Given the description of an element on the screen output the (x, y) to click on. 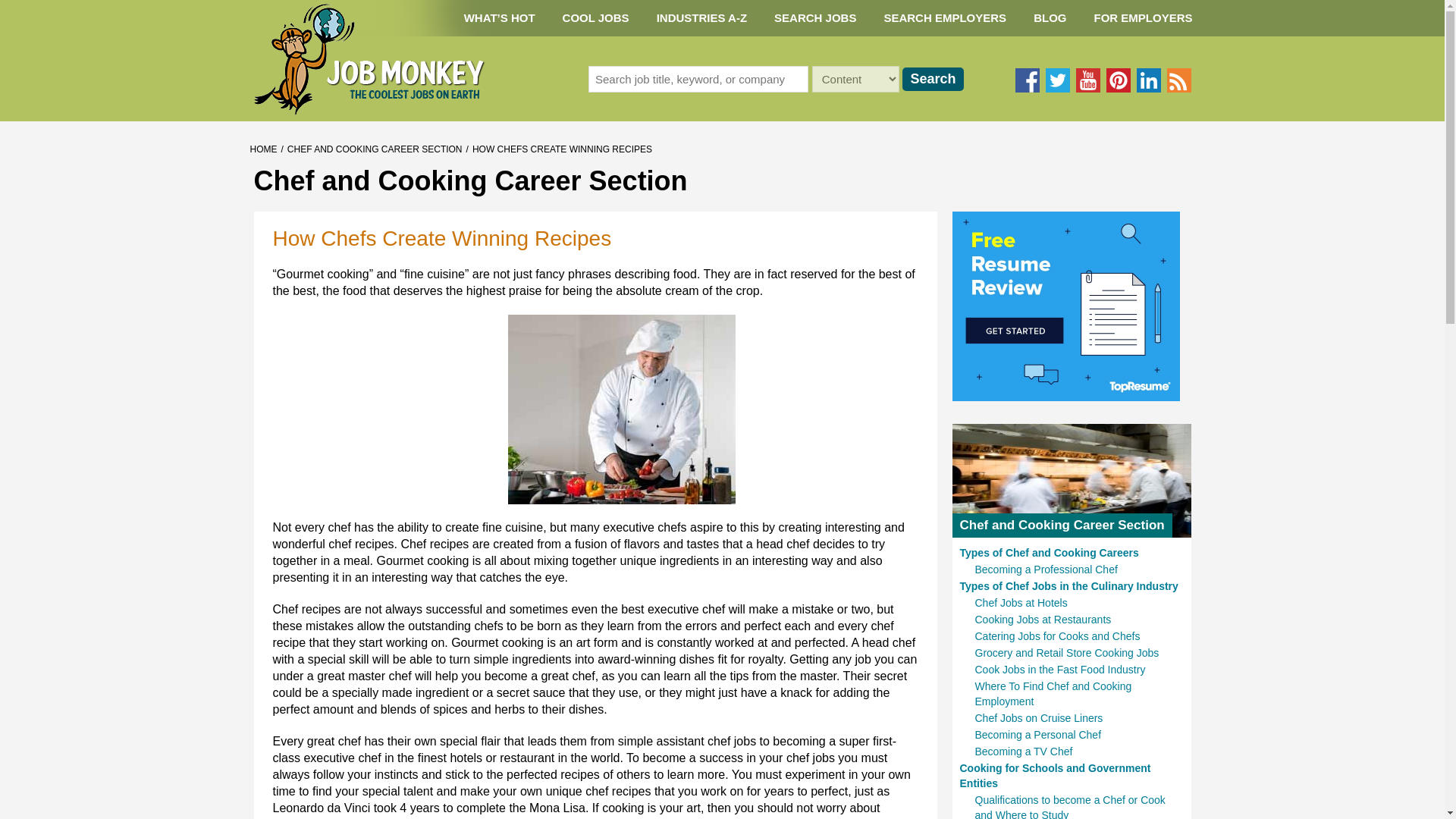
Follow us on Facebook (1026, 79)
BLOG (1050, 18)
Follow us on Facebook (1026, 79)
SEARCH EMPLOYERS (944, 18)
Connect with us on LinkedIn (1147, 79)
Subscribe to our blog (1178, 79)
FOR EMPLOYERS (1142, 18)
Go to JobMonkey. (264, 149)
Follow us on Twitter (1056, 79)
Follow us on Pinterest (1117, 79)
Follow us on YouTube (1087, 79)
Subscribe to our blog (1178, 79)
Follow us on Twitter (1056, 79)
Follow us on YouTube (1087, 79)
Go to Chef and Cooking Career Section. (374, 149)
